Given the description of an element on the screen output the (x, y) to click on. 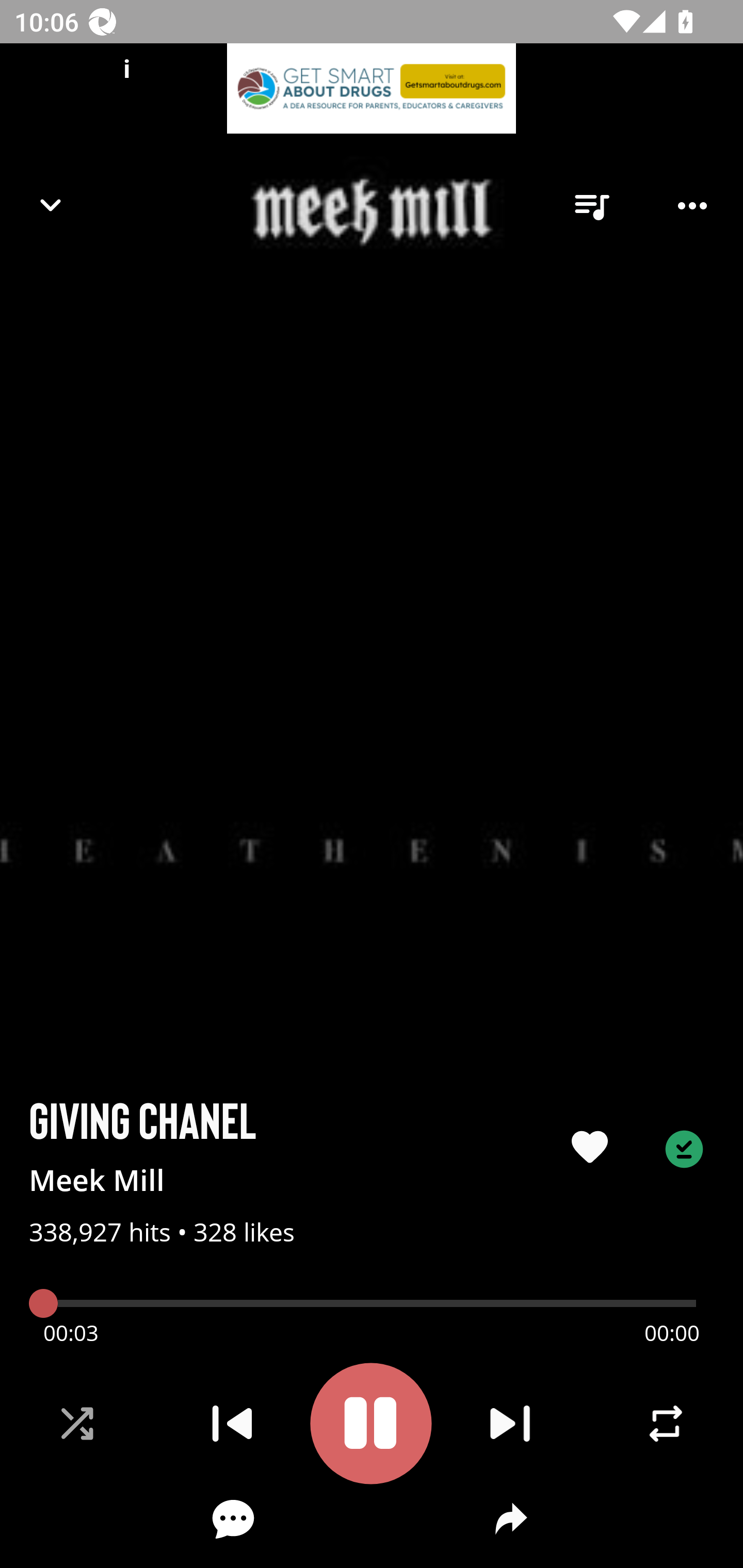
Navigate up (50, 205)
queue (590, 206)
Player options (692, 206)
